Given the description of an element on the screen output the (x, y) to click on. 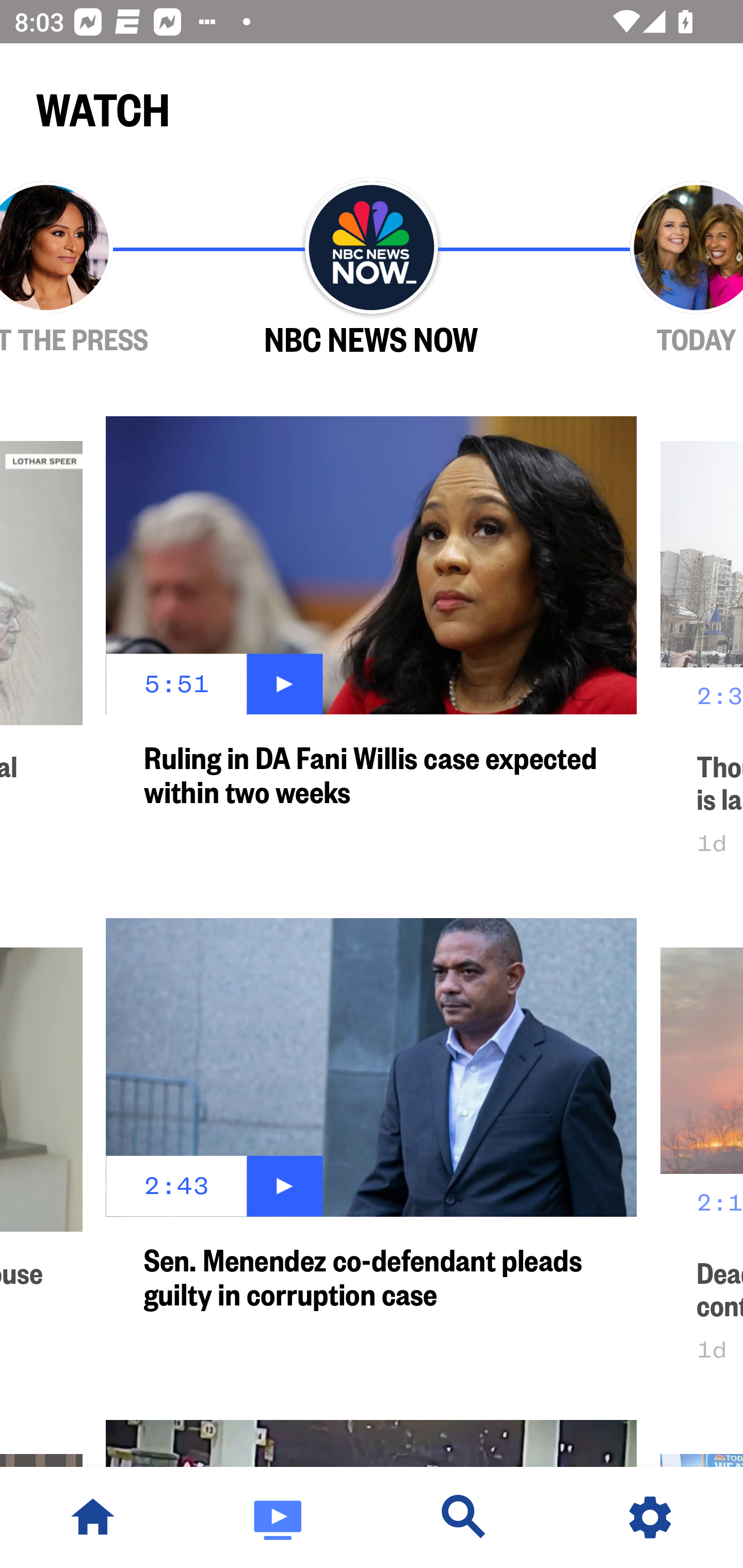
MEET THE PRESS (104, 268)
NBC NEWS NOW (371, 268)
TODAY (638, 268)
NBC News Home (92, 1517)
Discover (464, 1517)
Settings (650, 1517)
